Given the description of an element on the screen output the (x, y) to click on. 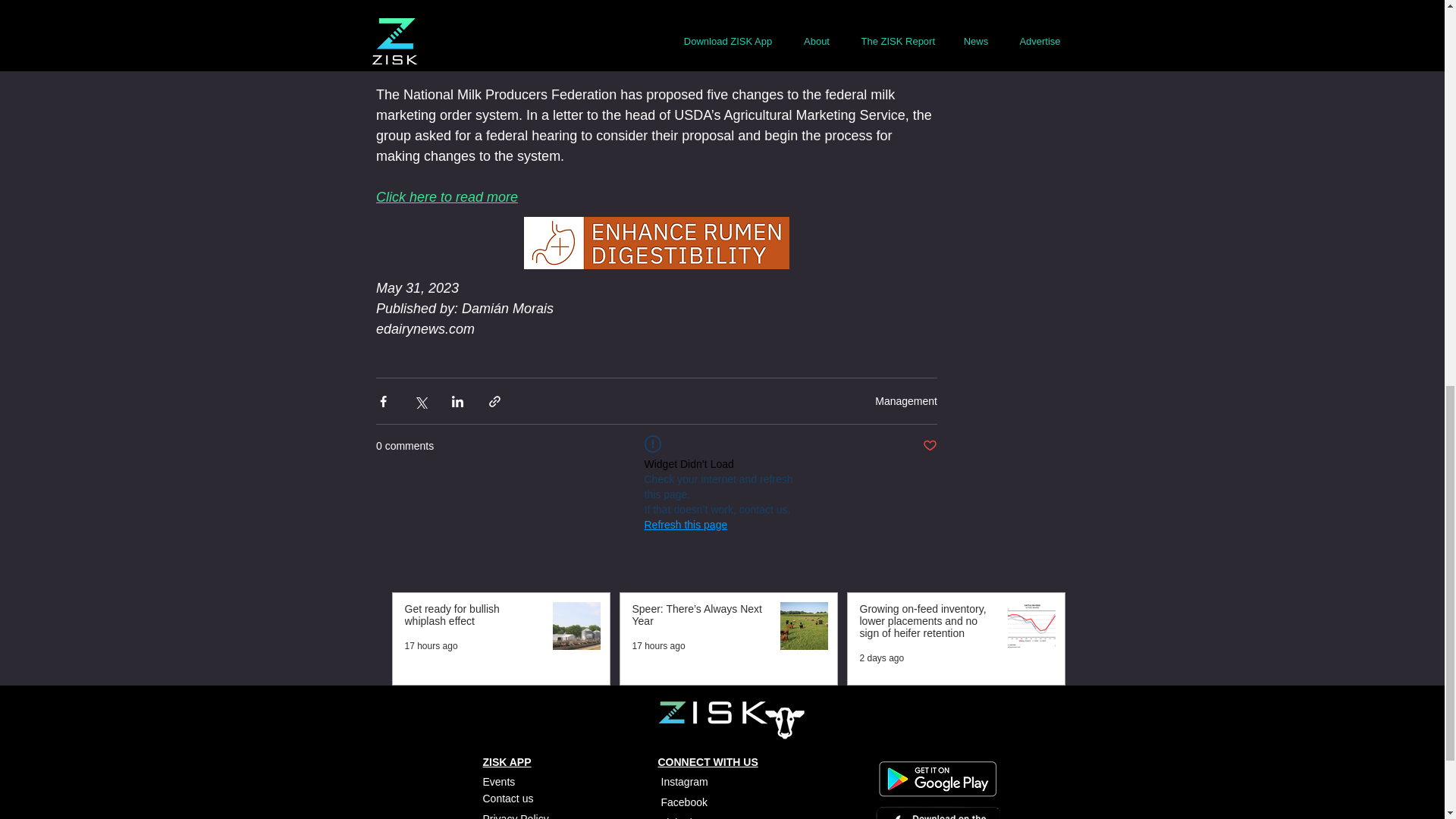
Click here to read more (446, 196)
17 hours ago (431, 645)
17 hours ago (658, 645)
Get ready for bullish whiplash effect (472, 617)
Management (906, 399)
Refresh this page (686, 524)
Privacy Policy (514, 816)
LinkedIn (681, 817)
Facebook  (685, 802)
Instagram (684, 781)
2 days ago (882, 657)
Contact us (506, 798)
Events (498, 781)
Post not marked as liked (930, 446)
